Given the description of an element on the screen output the (x, y) to click on. 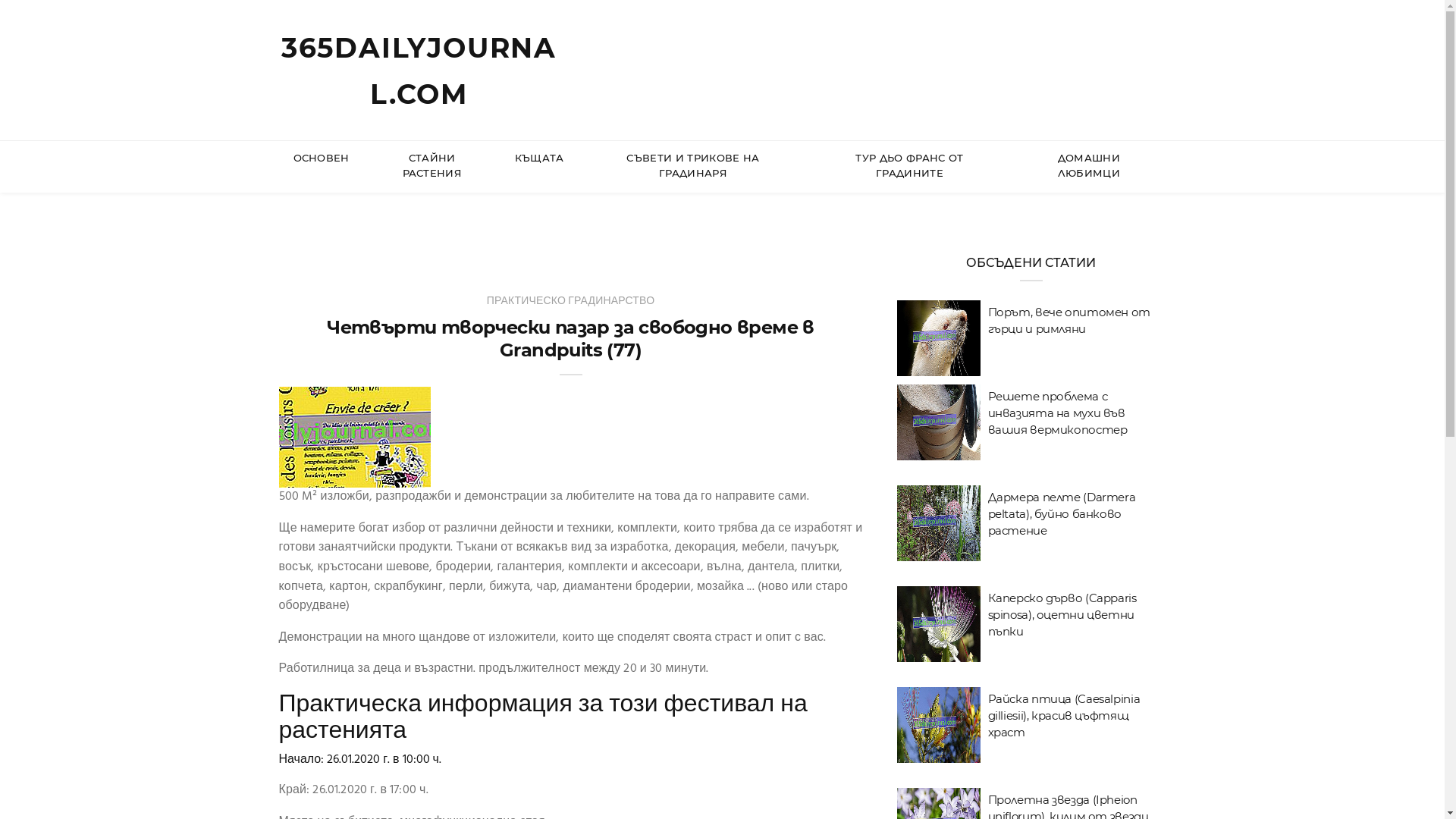
365DAILYJOURNAL.COM Element type: text (418, 70)
